Given the description of an element on the screen output the (x, y) to click on. 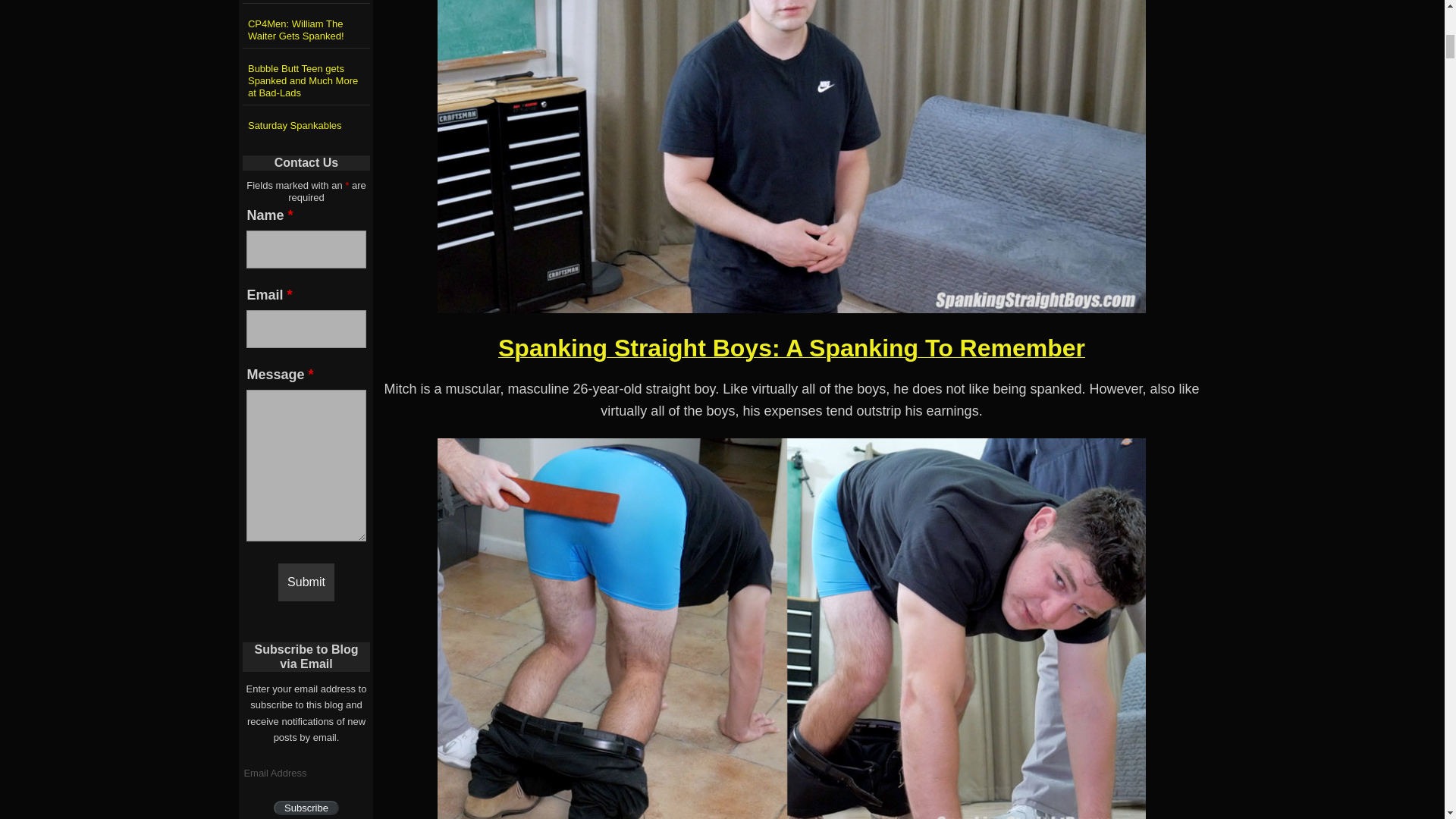
Spanking Straight Boys: A Spanking To Remember (790, 352)
Submit (306, 582)
Bubble Butt Teen gets Spanked and Much More at Bad-Lads (306, 78)
CP4Men: William The Waiter Gets Spanked! (306, 27)
